Given the description of an element on the screen output the (x, y) to click on. 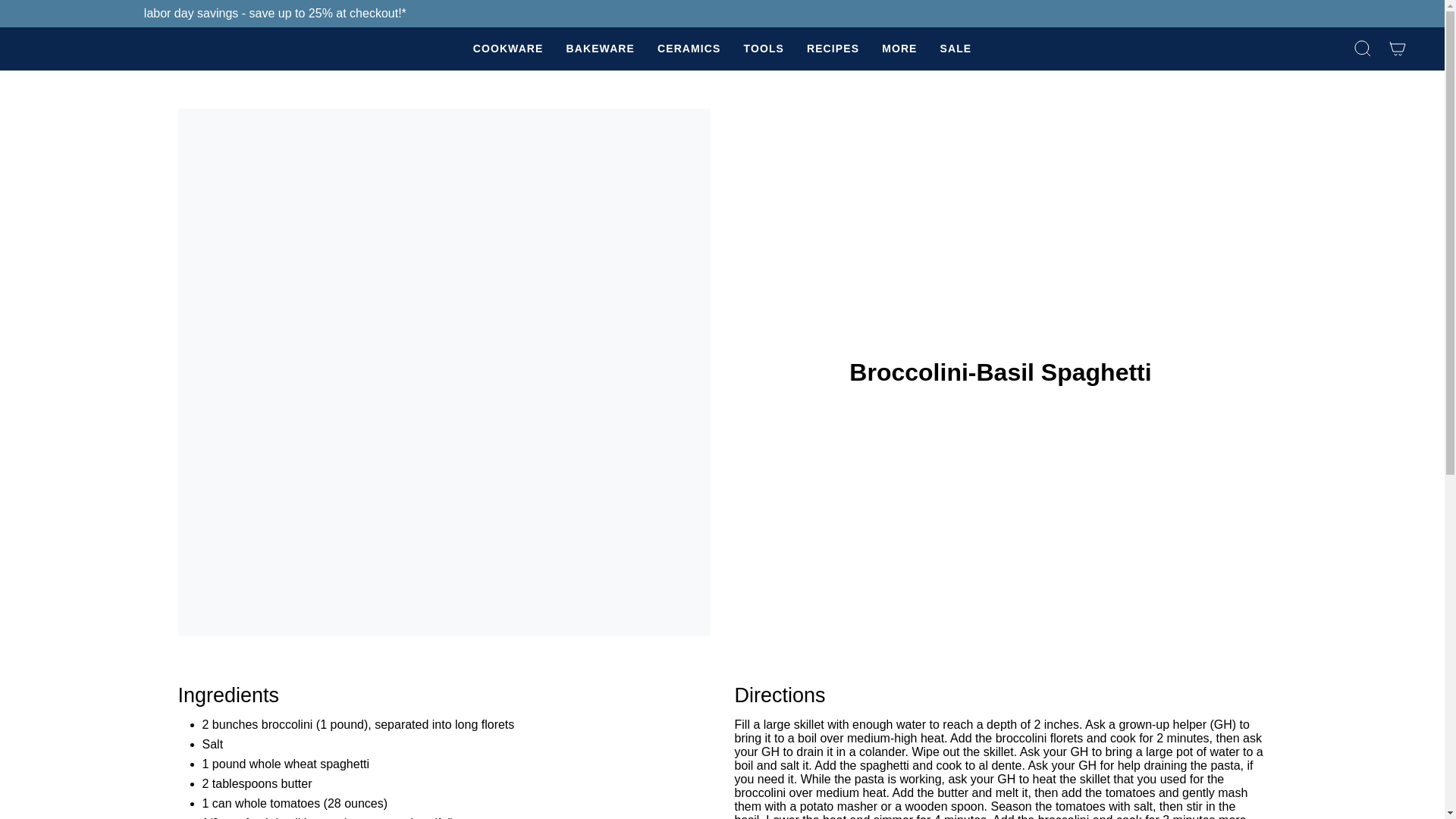
Cart (1397, 48)
COOKWARE (507, 48)
Search (1362, 48)
